Given the description of an element on the screen output the (x, y) to click on. 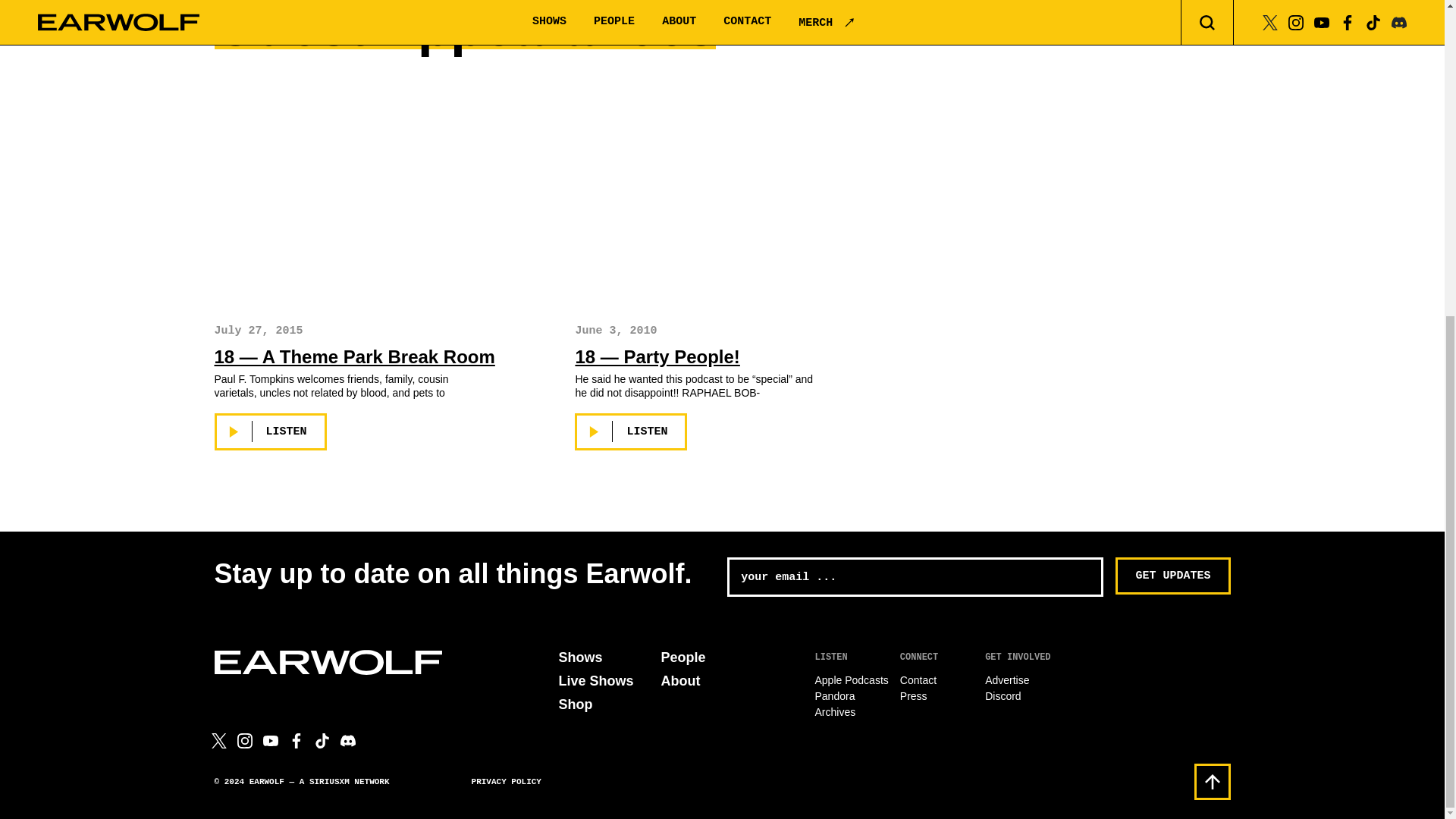
LISTEN (631, 431)
Archives (834, 711)
Get Updates (1172, 575)
Live Shows (595, 680)
LISTEN (270, 431)
Shows (579, 657)
Apple Podcasts (850, 680)
Instagram (243, 740)
About (680, 680)
People (683, 657)
